Given the description of an element on the screen output the (x, y) to click on. 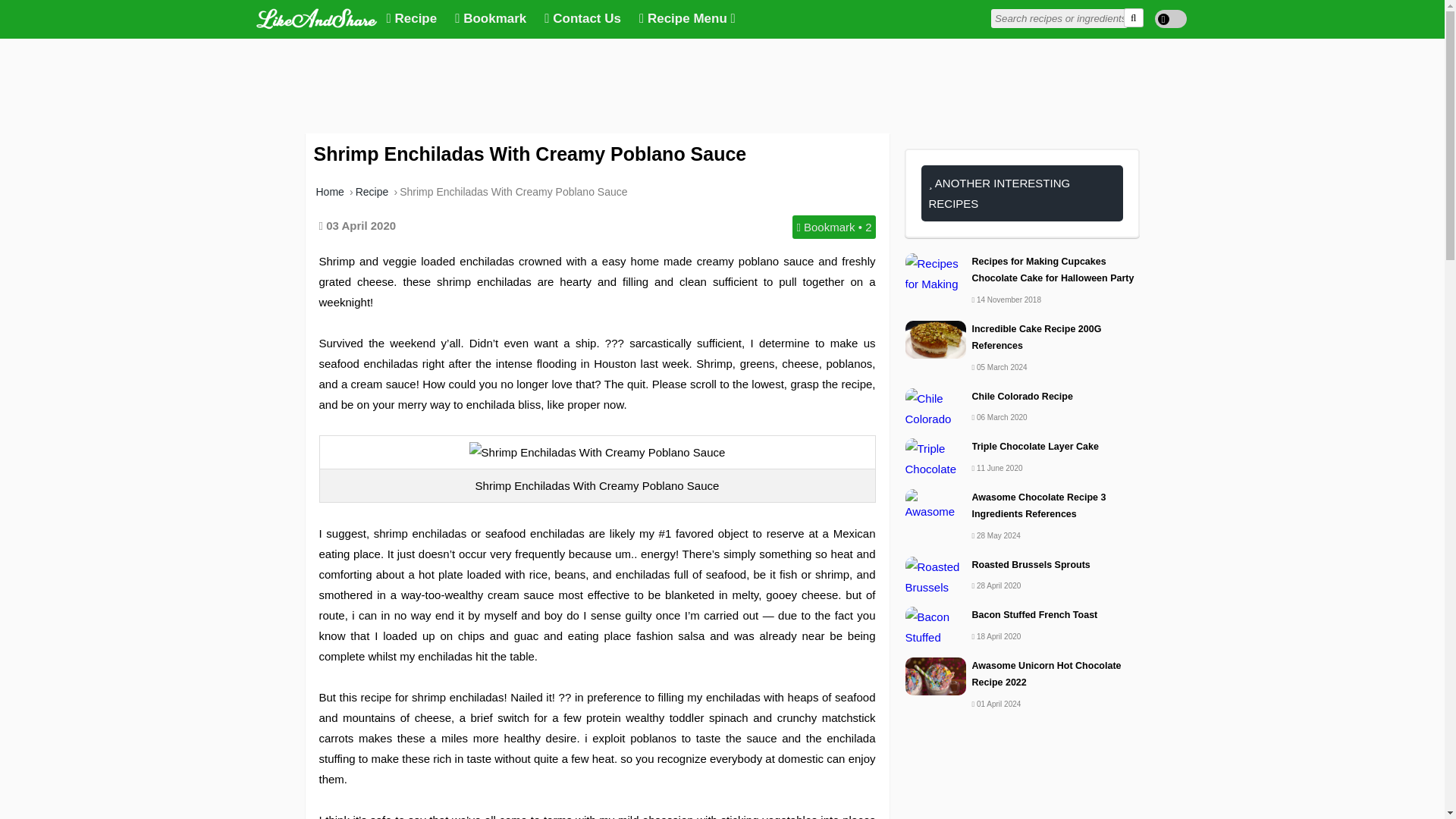
Bookmark (490, 19)
Recipe (371, 191)
Home (329, 191)
Contact Us (582, 19)
Delicious Coconut Flour Cookies Recipes (1021, 421)
Cool Cake Recipe For Two 2022 (1021, 262)
Baked Cranberry Brie Bread Bowl (1021, 479)
Shrimp Enchiladas With Creamy Poblano Sauce (512, 191)
Recipe Menu (687, 19)
Apple Walnut Cranberry Salad (1021, 312)
